Given the description of an element on the screen output the (x, y) to click on. 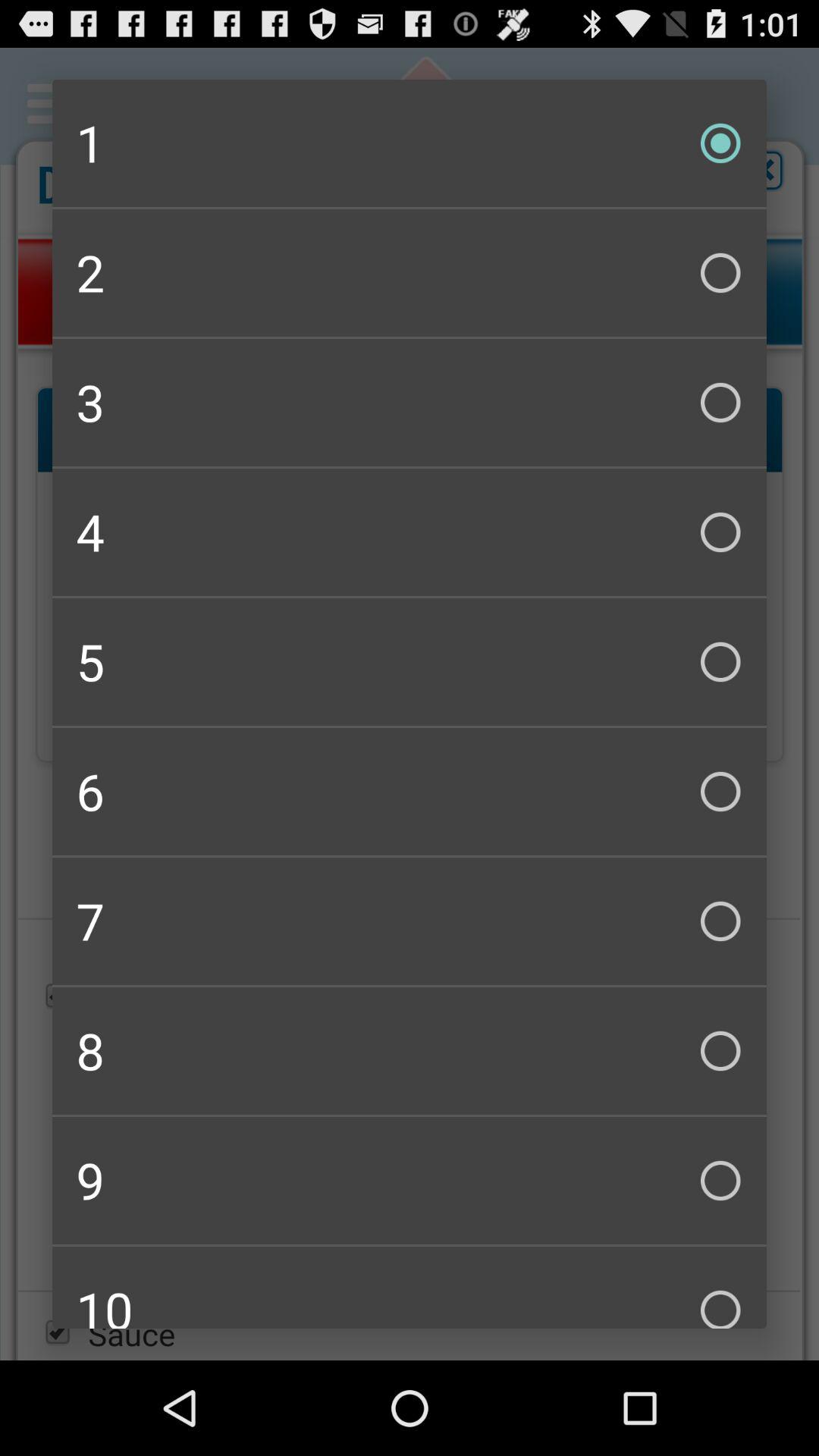
select 1 item (409, 143)
